Given the description of an element on the screen output the (x, y) to click on. 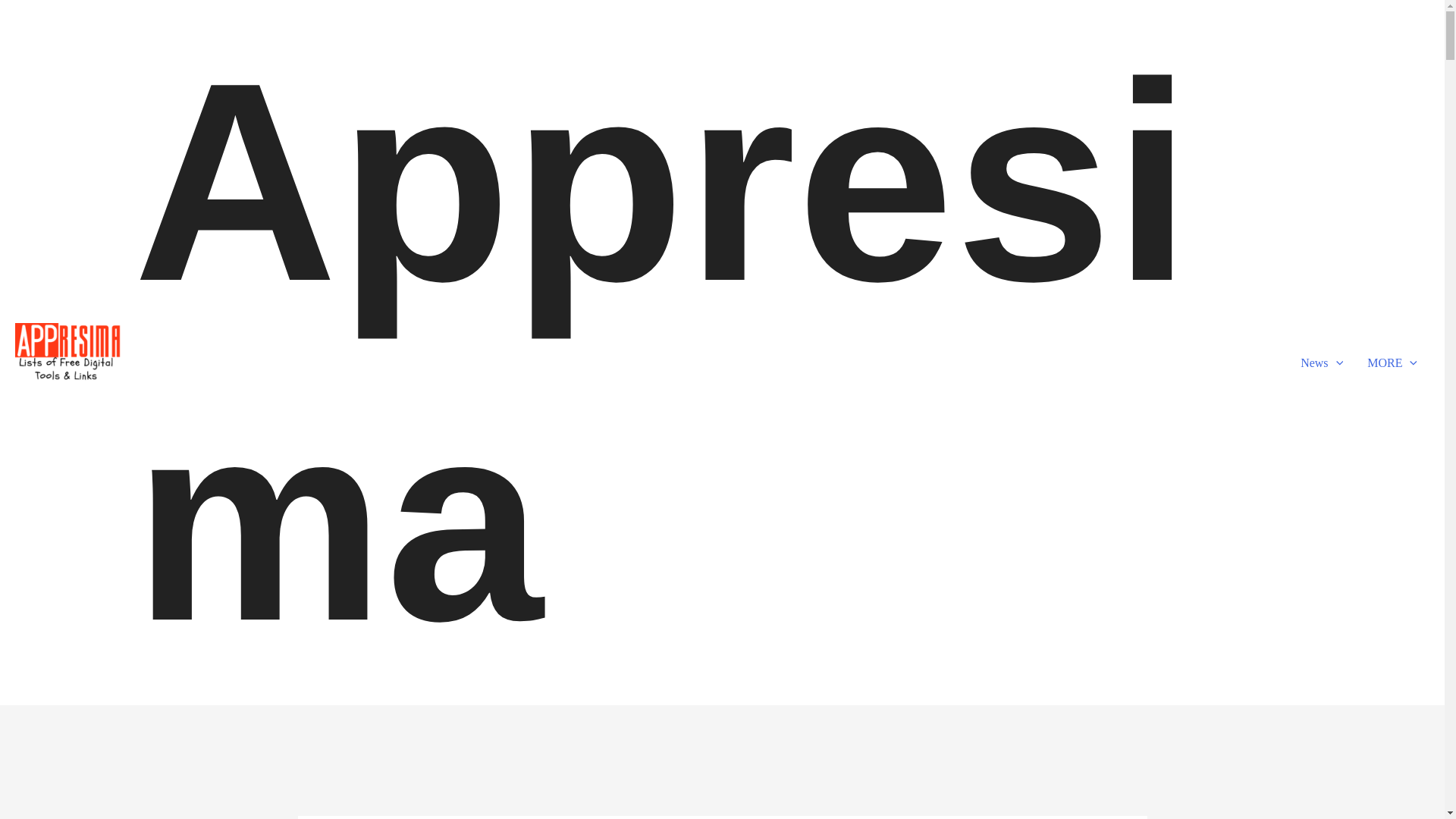
MORE (1392, 363)
News (1321, 363)
